Given the description of an element on the screen output the (x, y) to click on. 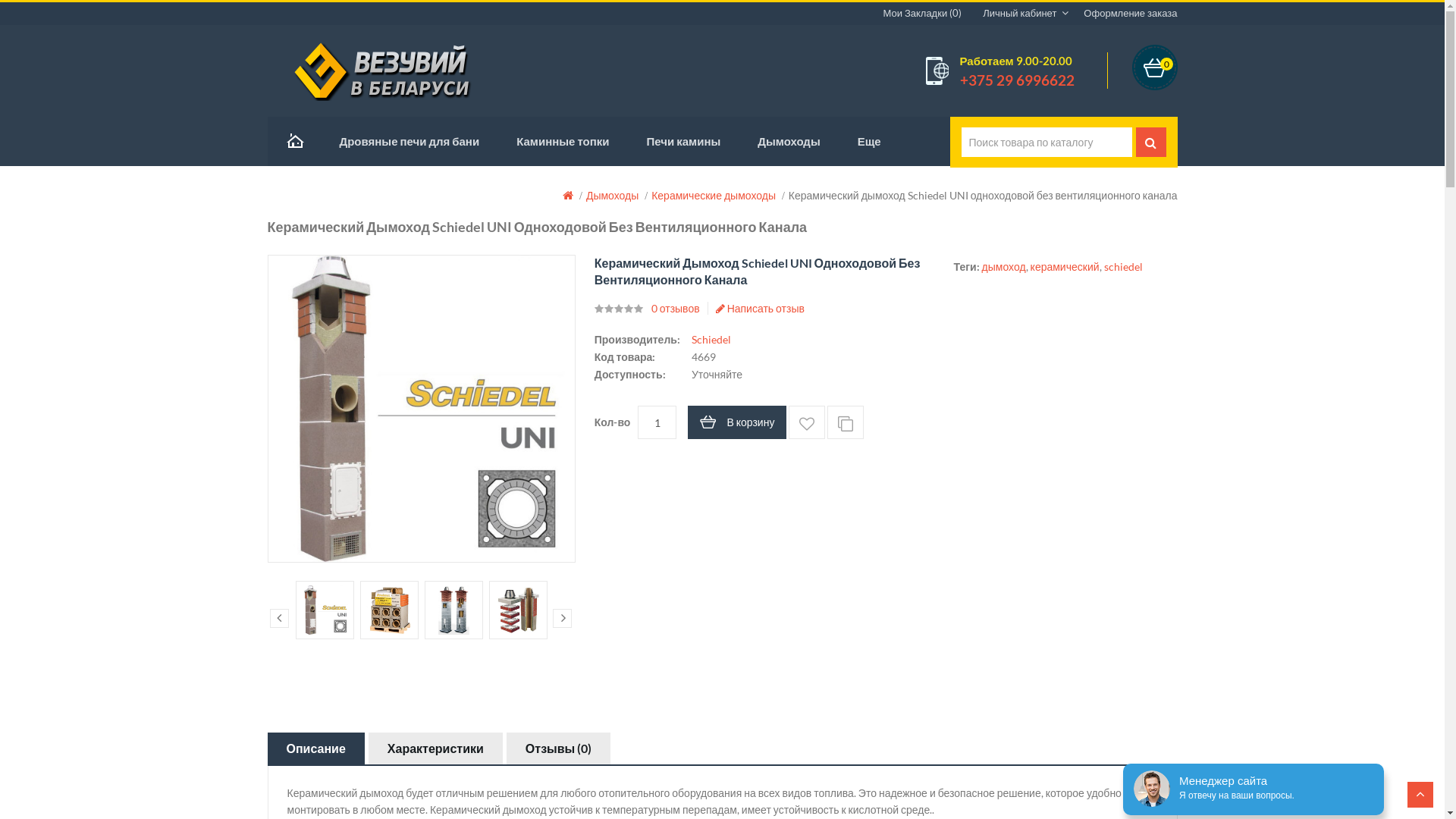
+375 29 6996622 Element type: text (1017, 79)
schiedel Element type: text (1123, 266)
0 Element type: text (1153, 67)
TOP Element type: text (1420, 794)
Schiedel Element type: text (711, 338)
